Given the description of an element on the screen output the (x, y) to click on. 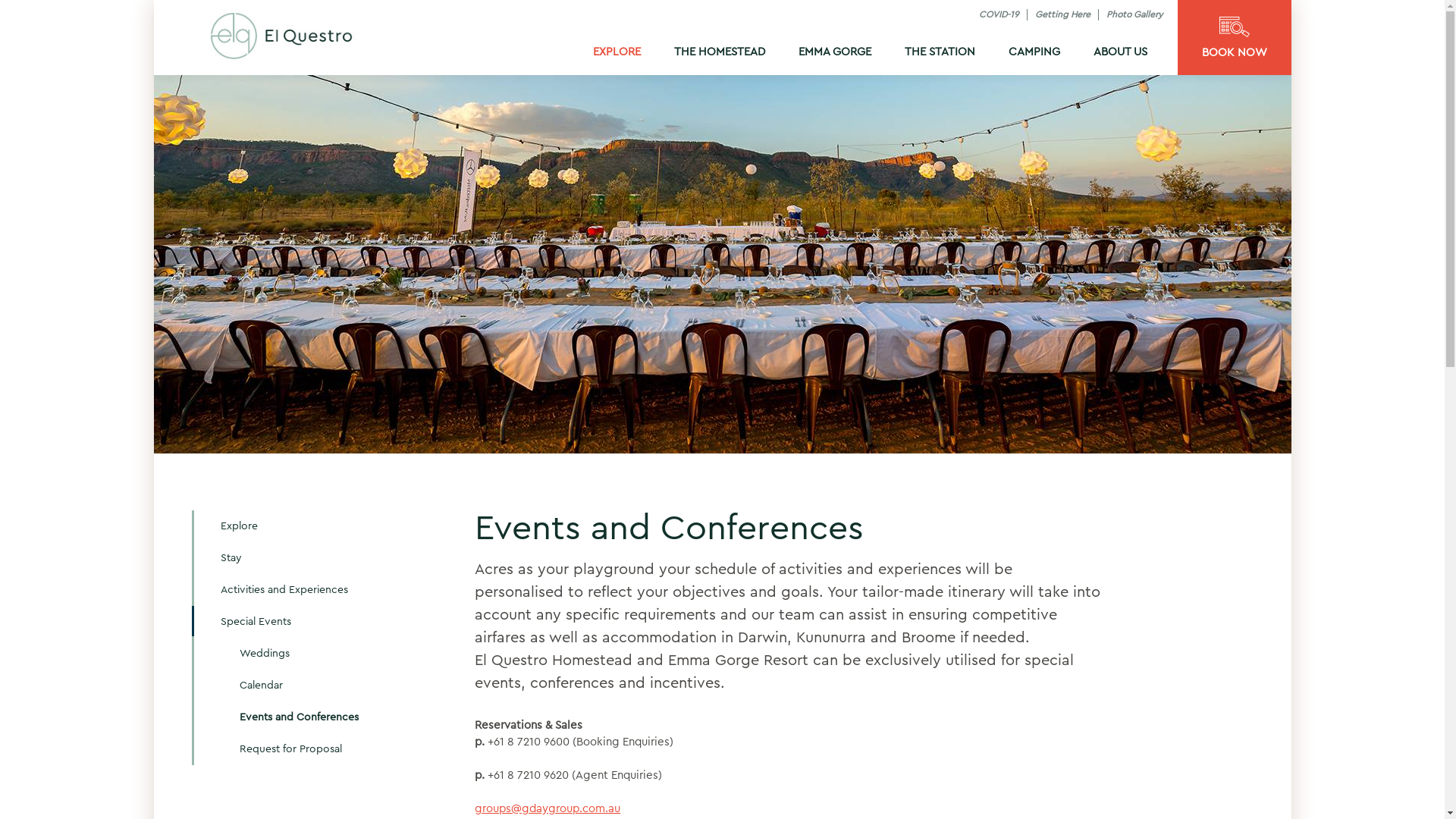
Events and Conferences Element type: text (320, 717)
EXPLORE Element type: text (616, 52)
Calendar Element type: text (320, 685)
THE STATION Element type: text (938, 52)
Request for Proposal Element type: text (320, 749)
EMMA GORGE Element type: text (833, 52)
COVID-19 Element type: text (998, 13)
Activities and Experiences Element type: text (305, 589)
Skip to Content Element type: text (153, 0)
groups@gdaygroup.com.au Element type: text (547, 808)
Getting Here Element type: text (1061, 13)
Check Rates icon Element type: hover (1234, 26)
CAMPING Element type: text (1034, 52)
Photo Gallery Element type: text (1133, 13)
Special Events Element type: text (305, 621)
Weddings Element type: text (320, 653)
THE HOMESTEAD Element type: text (718, 52)
Stay Element type: text (305, 558)
Explore Element type: text (305, 526)
ABOUT US Element type: text (1120, 52)
